Given the description of an element on the screen output the (x, y) to click on. 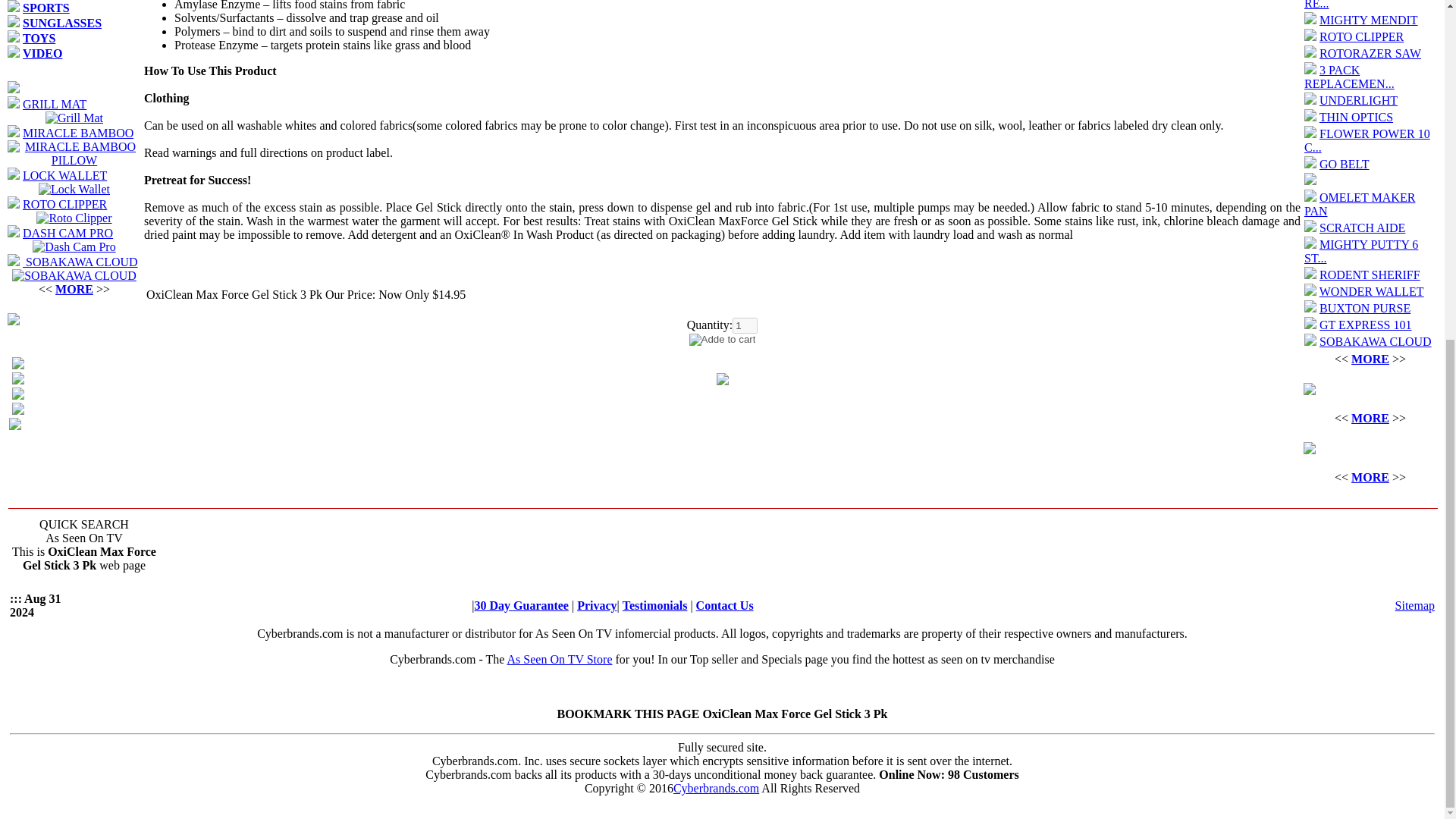
MIRACLE BAMBOO (78, 132)
SPORTS (46, 7)
TOYS (39, 38)
1 (744, 325)
VIDEO (42, 52)
As Seen On TV (1414, 604)
GRILL MAT (54, 103)
SUNGLASSES (62, 22)
